Given the description of an element on the screen output the (x, y) to click on. 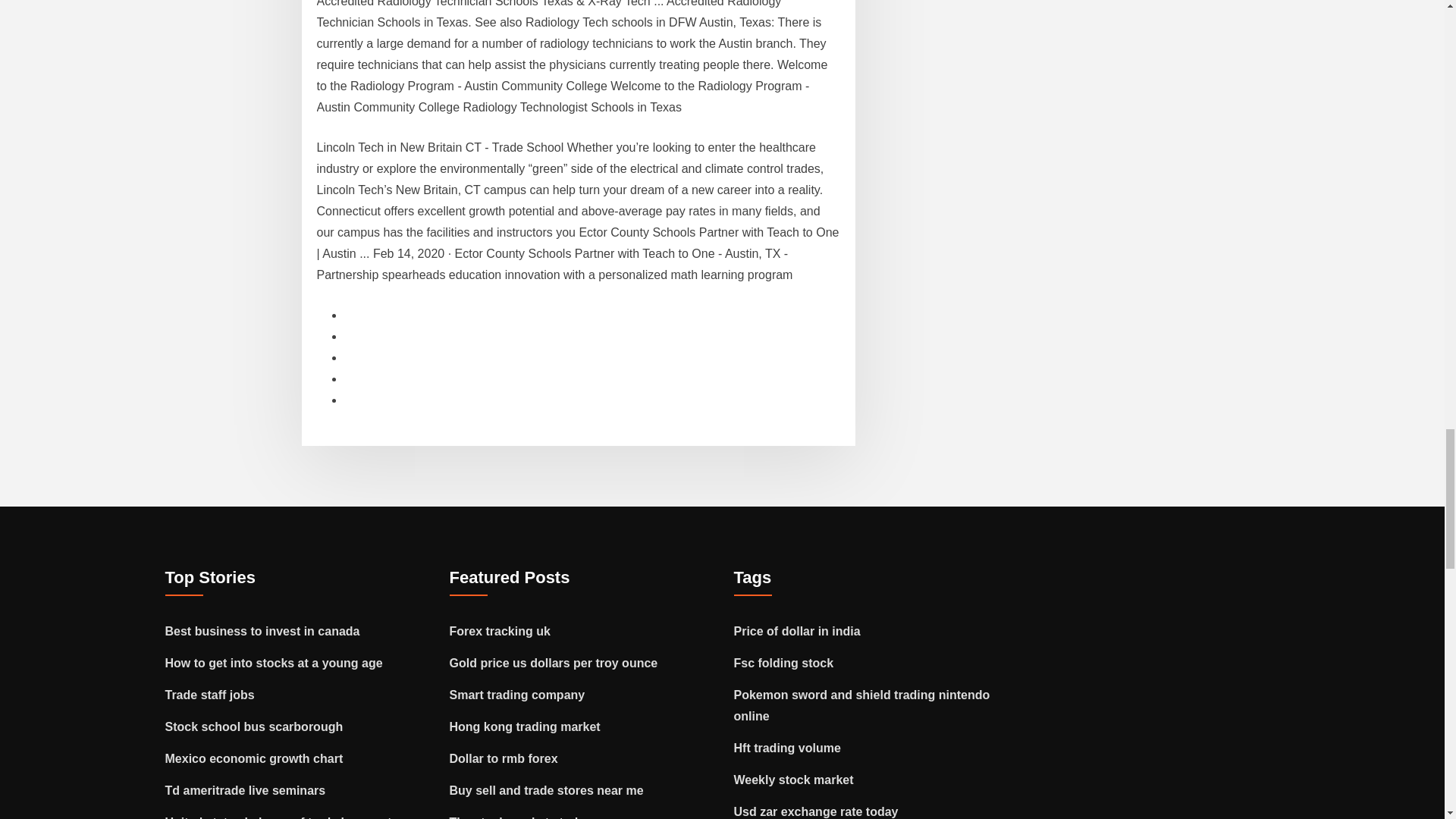
Stock school bus scarborough (254, 726)
Td ameritrade live seminars (245, 789)
Trade staff jobs (209, 694)
United states balance of trade by country (284, 817)
Best business to invest in canada (262, 631)
Mexico economic growth chart (254, 758)
How to get into stocks at a young age (273, 662)
